Given the description of an element on the screen output the (x, y) to click on. 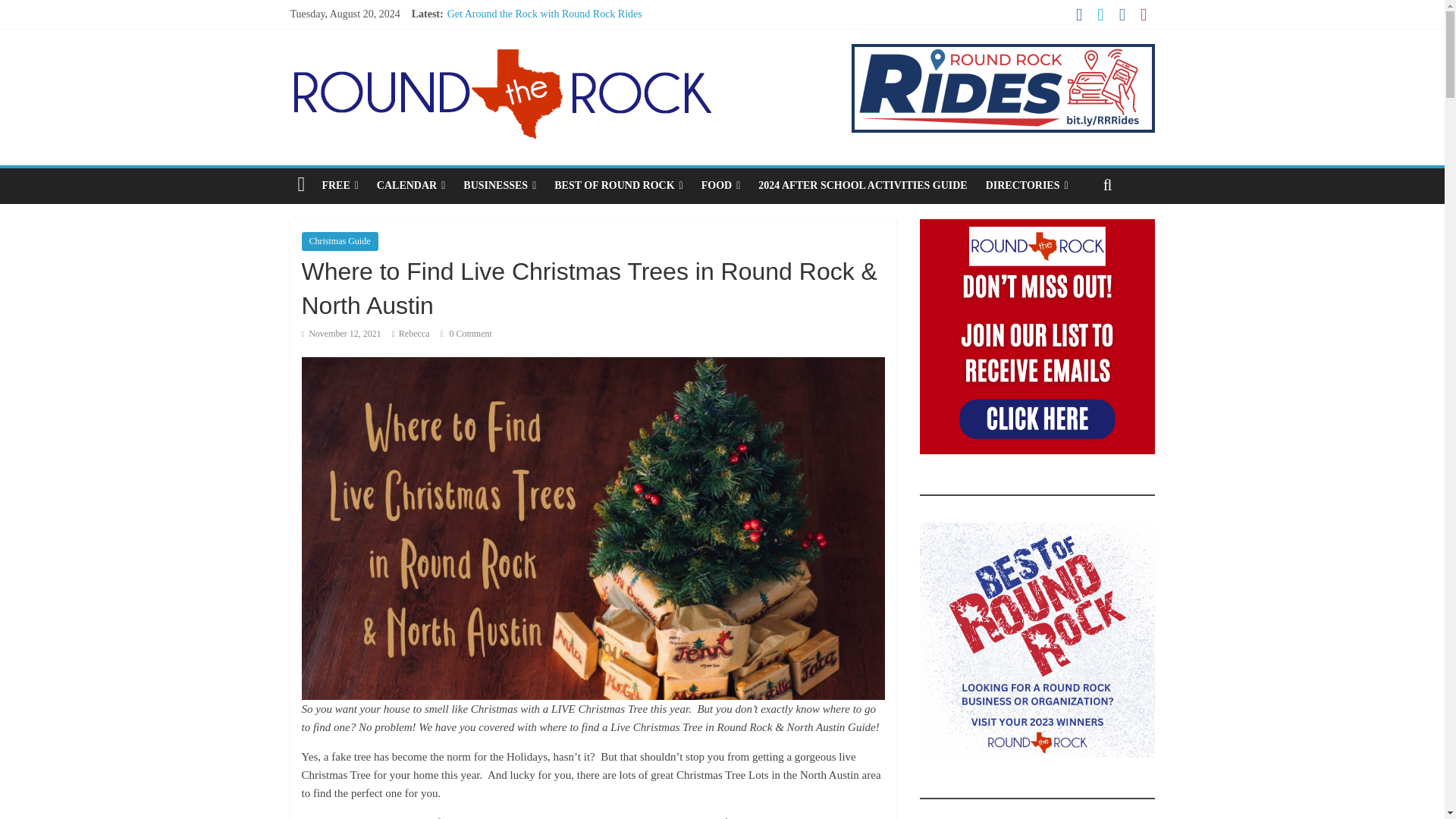
BUSINESSES (499, 185)
CALENDAR (411, 185)
Get Around the Rock with Round Rock Rides (544, 13)
FREE (339, 185)
Get Around the Rock with Round Rock Rides (544, 13)
Rebecca (413, 333)
View Local Round Rock Businesses (499, 185)
8:00 pm (341, 333)
Round the Rock (500, 52)
BEST OF ROUND ROCK (617, 185)
